Given the description of an element on the screen output the (x, y) to click on. 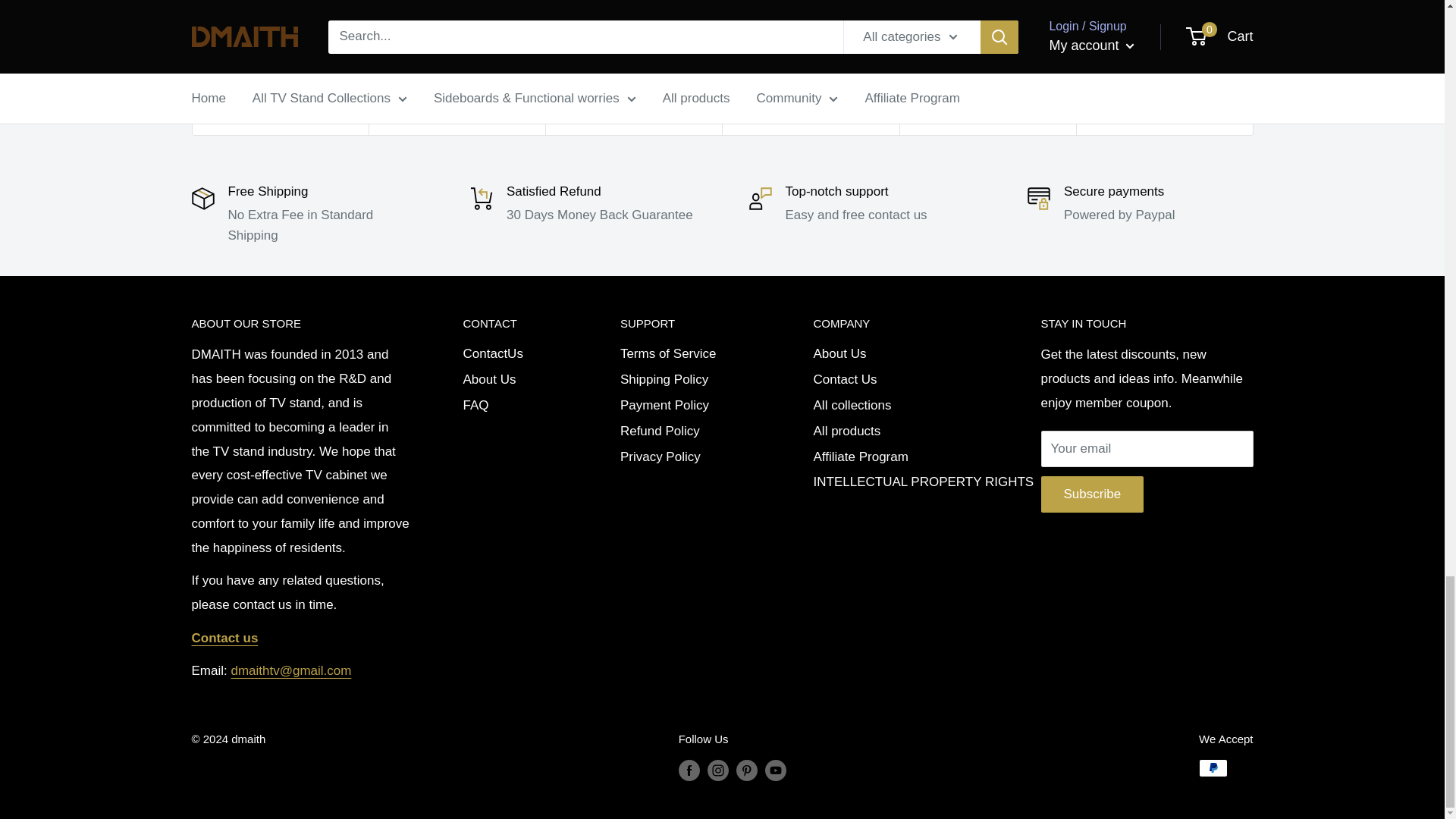
White (815, 9)
OAK (746, 9)
Black (769, 9)
White (592, 9)
GWW (260, 9)
White (393, 9)
FW (837, 9)
Black (238, 9)
Natural (792, 9)
ROW (284, 9)
Black (569, 9)
White (215, 9)
WAL (306, 9)
WB (329, 9)
Black (416, 9)
